Given the description of an element on the screen output the (x, y) to click on. 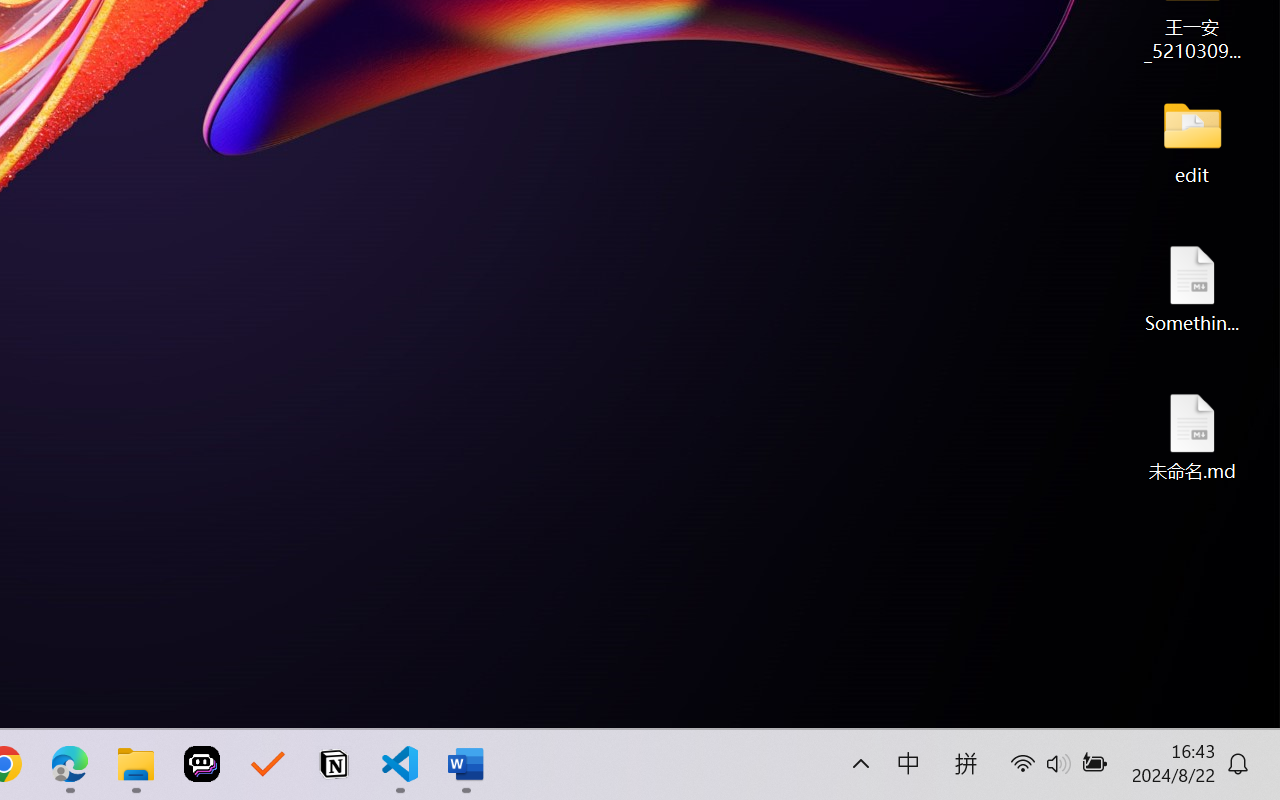
edit (1192, 140)
Something.md (1192, 288)
